Given the description of an element on the screen output the (x, y) to click on. 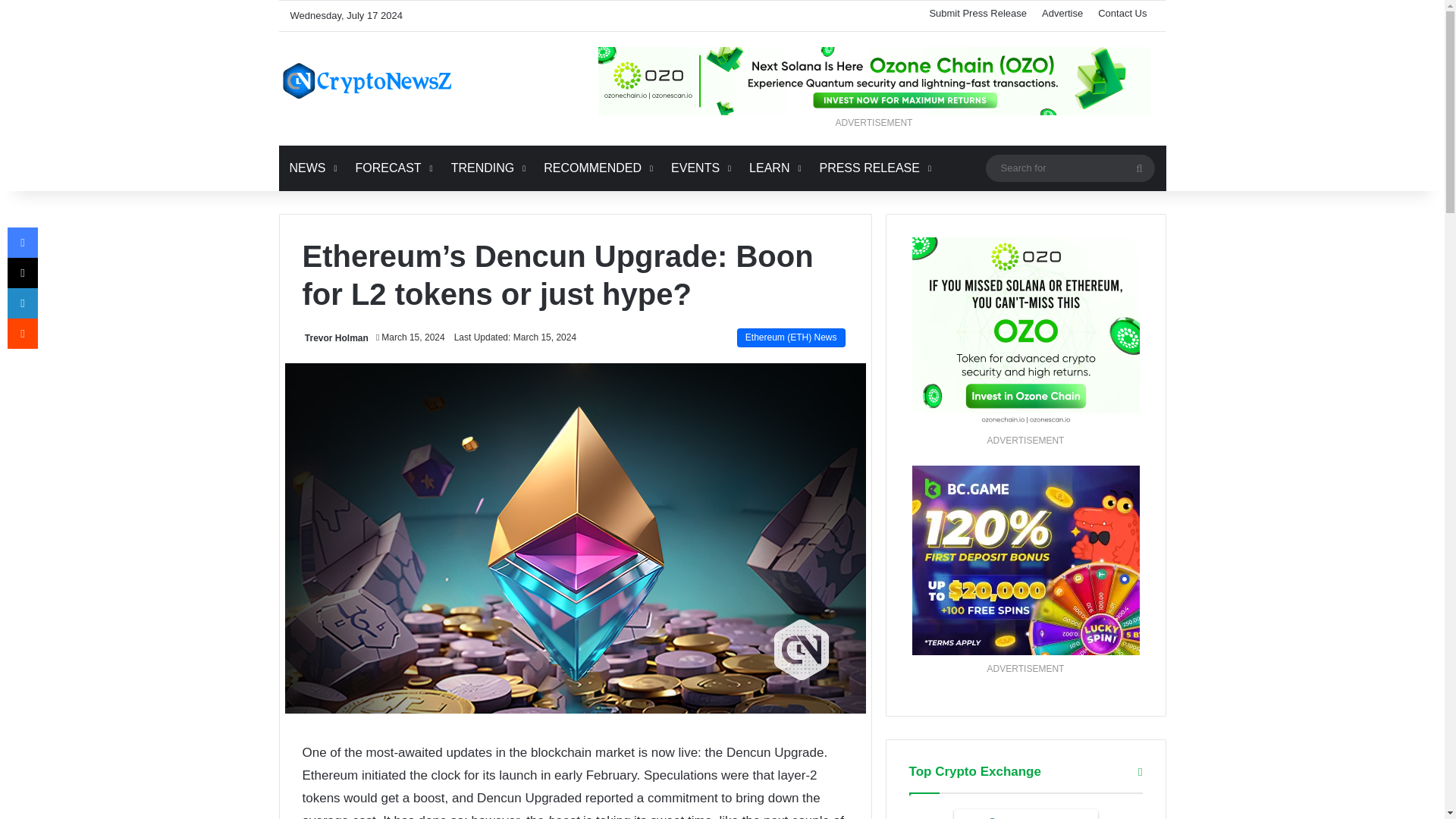
NEWS (312, 167)
Submit Press Release (977, 13)
Search for (1069, 167)
TRENDING (487, 167)
Bitget (1025, 814)
Advertise (1061, 13)
BC.Game (1024, 560)
FORECAST (391, 167)
CryptoNewsZ (367, 80)
Posts by Trevor Holman (336, 337)
OZO (1024, 331)
Contact Us (1122, 13)
OZO (873, 80)
